Given the description of an element on the screen output the (x, y) to click on. 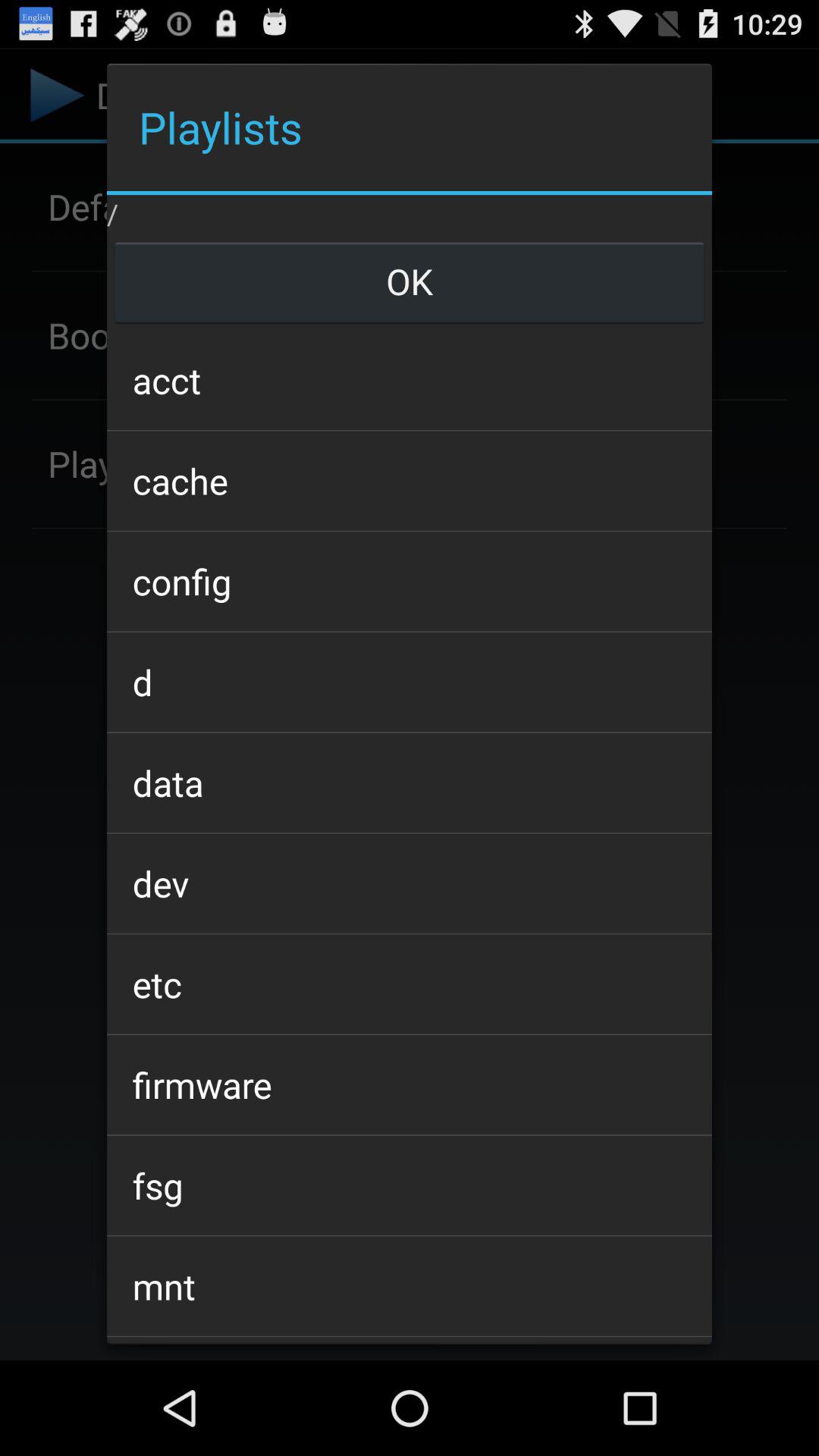
click the mnt app (409, 1285)
